Given the description of an element on the screen output the (x, y) to click on. 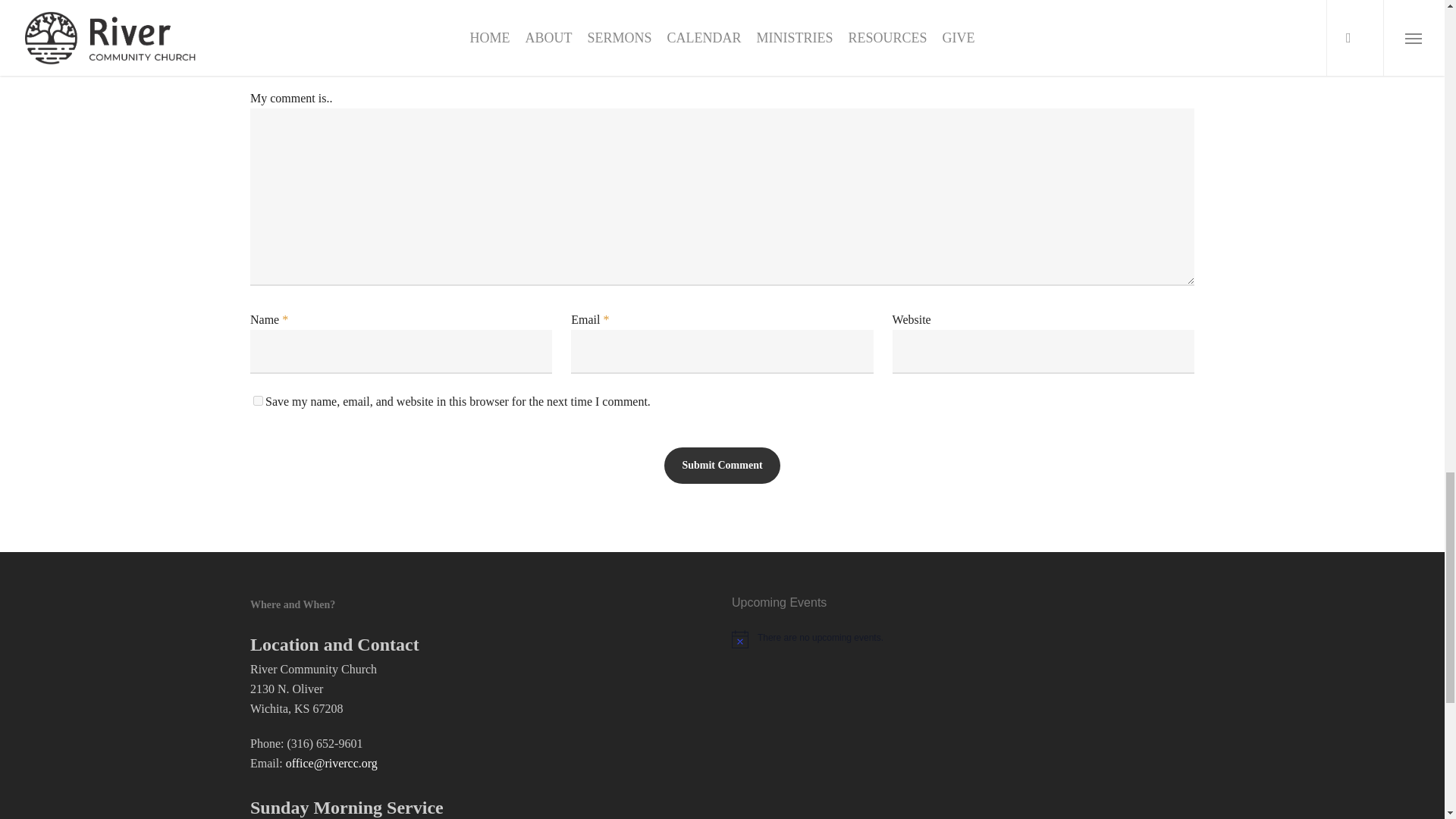
yes (258, 400)
Submit Comment (720, 465)
